Given the description of an element on the screen output the (x, y) to click on. 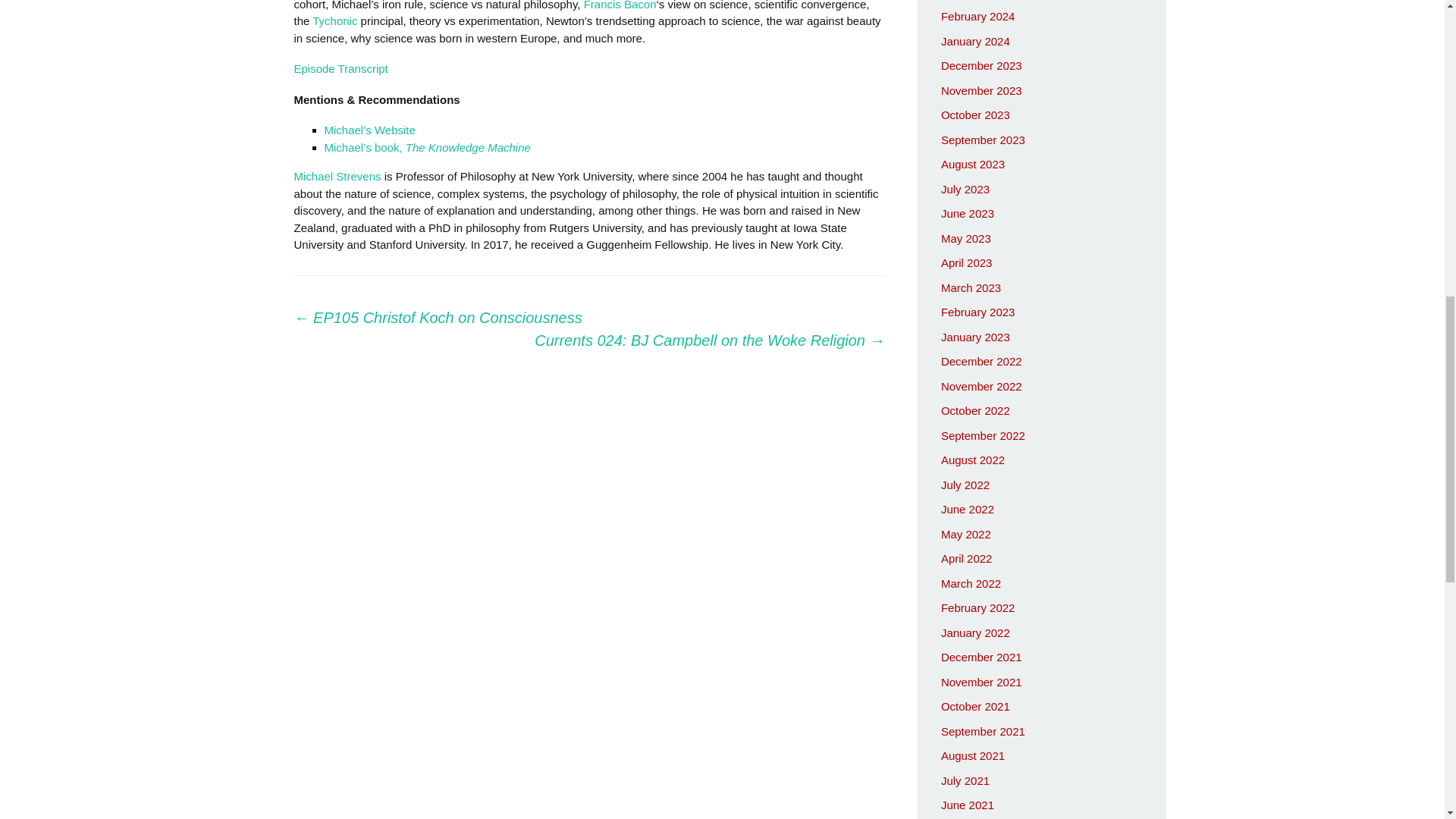
Tychonic (334, 20)
The Knowledge Machine (468, 146)
Episode Transcript (341, 68)
Michael Strevens (337, 175)
Francis Bacon (619, 5)
